Given the description of an element on the screen output the (x, y) to click on. 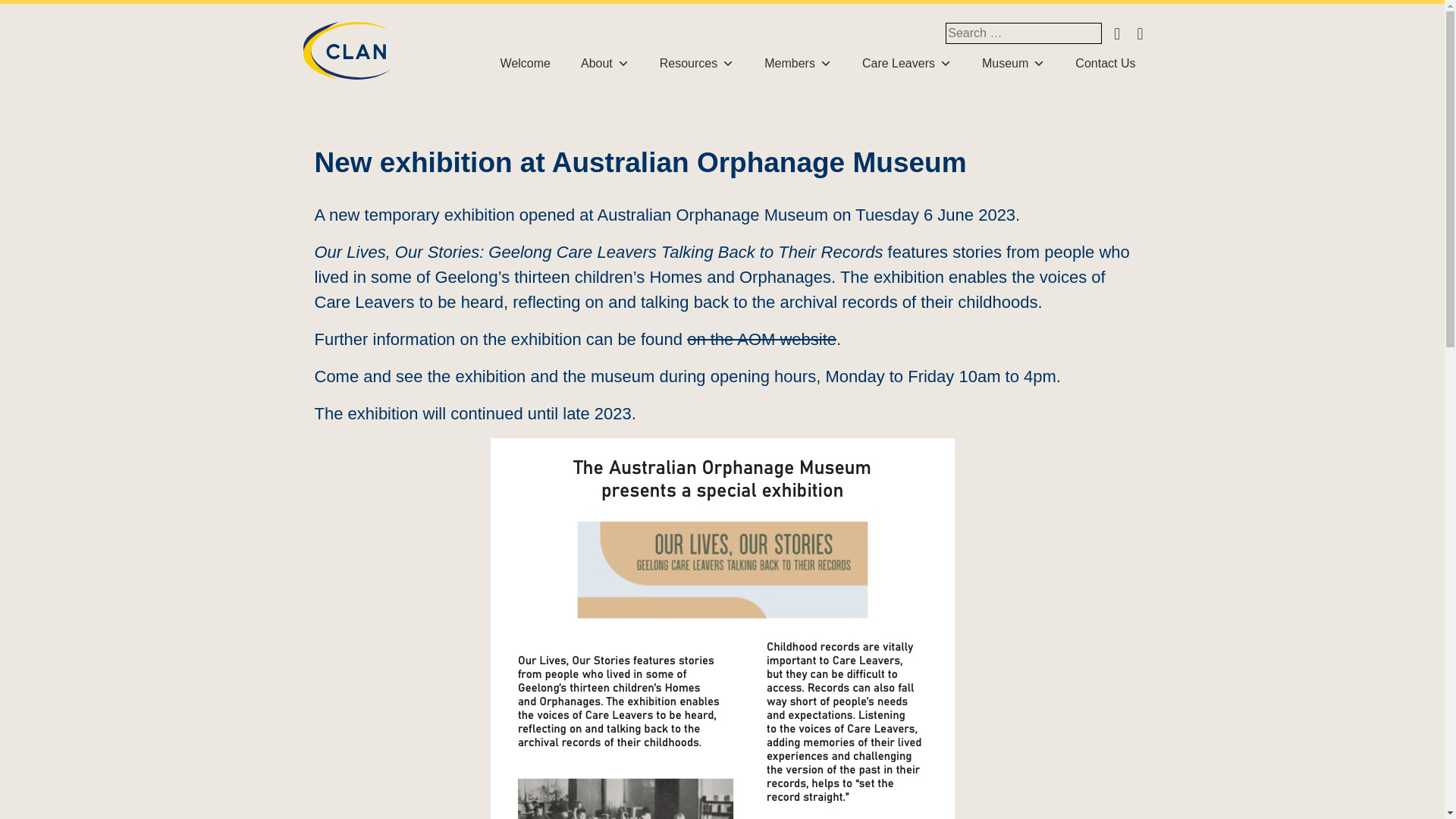
Contact Us (1104, 63)
About (605, 63)
Resources (696, 63)
Care Leavers (906, 63)
on the AOM website (761, 339)
Museum (1013, 63)
Welcome (525, 63)
Members (798, 63)
Search for (1023, 33)
